Given the description of an element on the screen output the (x, y) to click on. 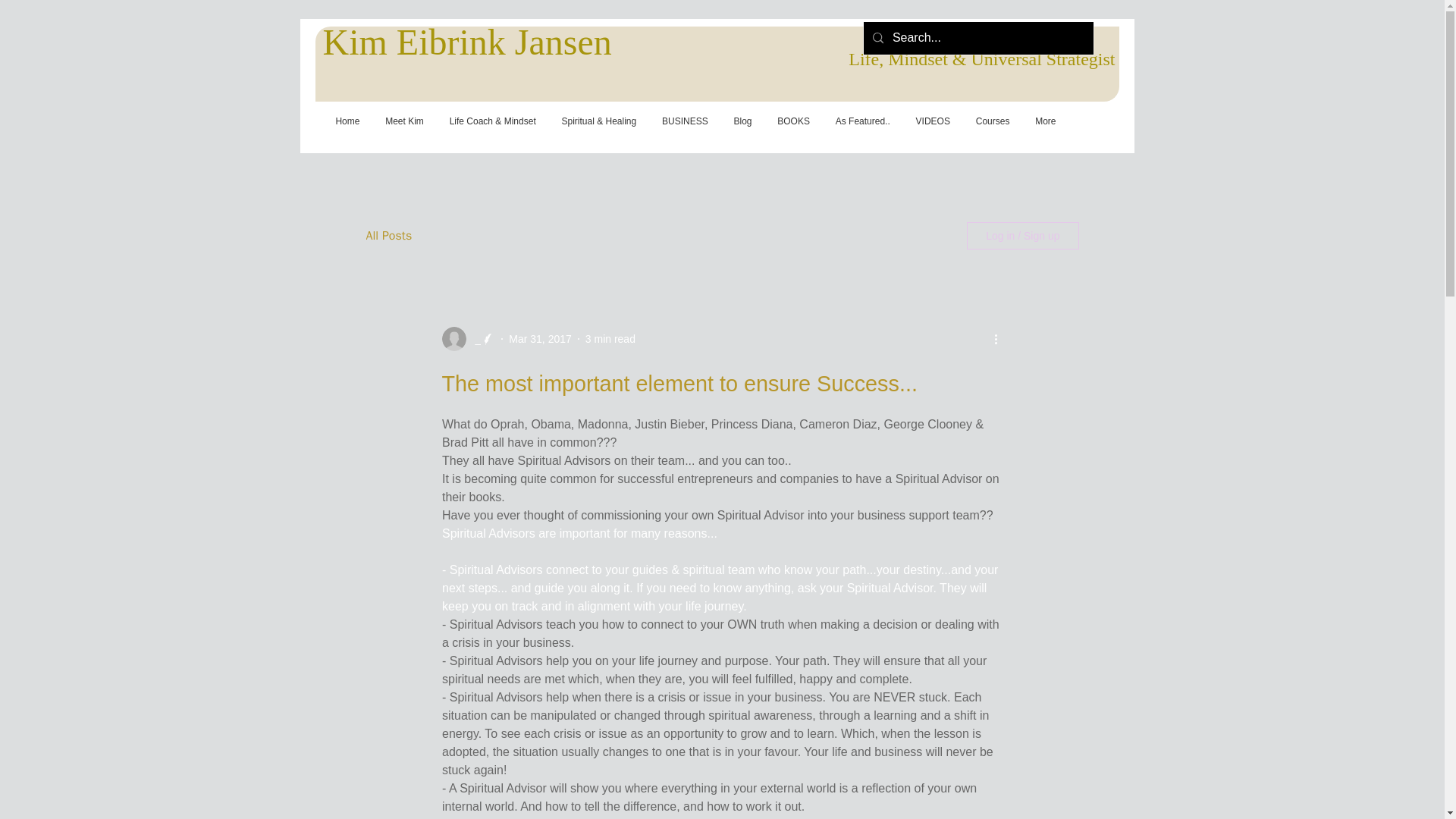
Blog (742, 121)
VIDEOS (932, 121)
Home (347, 121)
All Posts (388, 236)
3 min read (609, 338)
BOOKS (793, 121)
Meet Kim (403, 121)
BUSINESS (684, 121)
More (1045, 121)
Courses (992, 121)
Mar 31, 2017 (540, 338)
As Featured.. (862, 121)
